Given the description of an element on the screen output the (x, y) to click on. 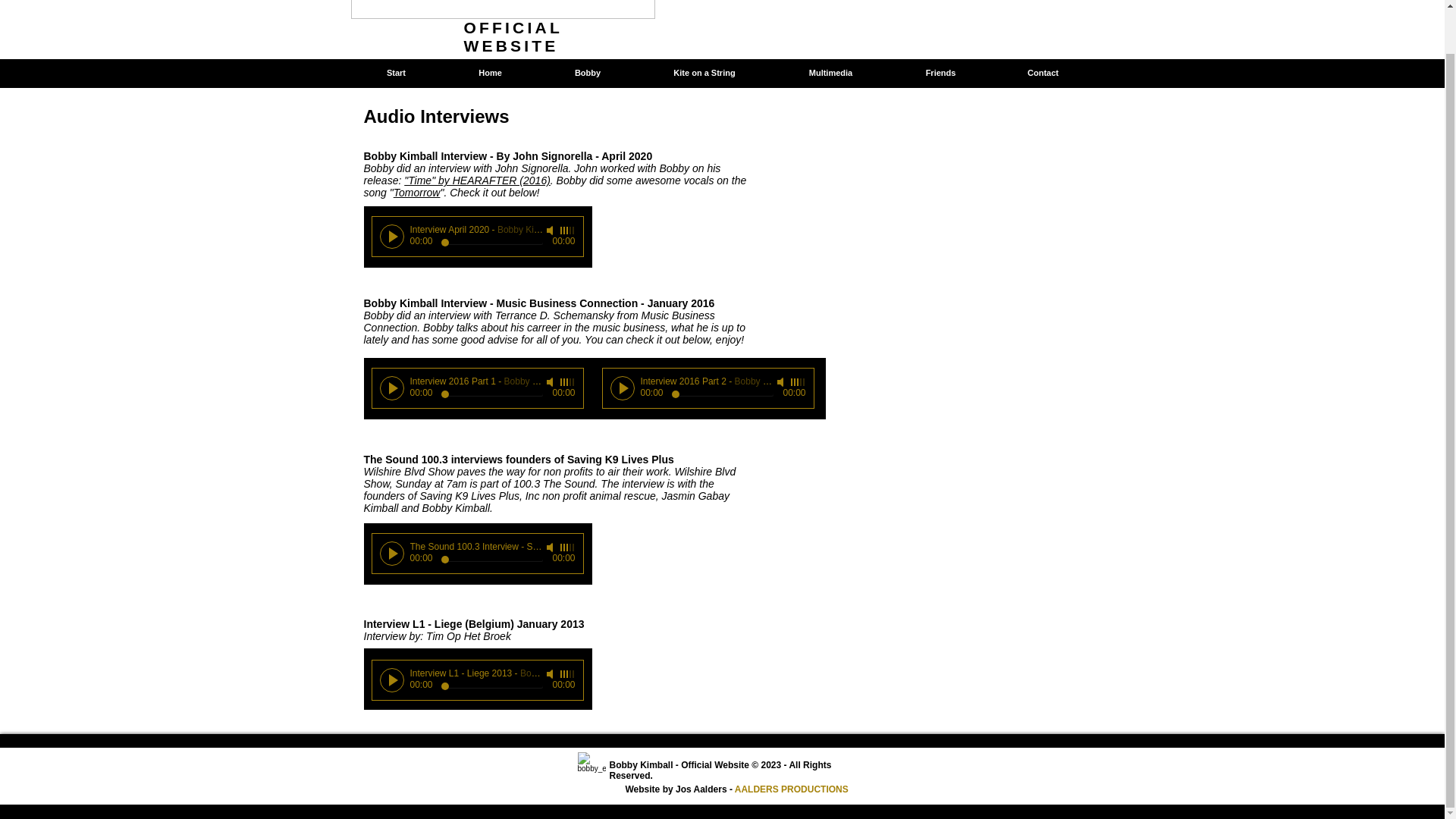
0 (492, 242)
Kite on a String (704, 73)
0 (492, 686)
0 (492, 559)
Start (395, 73)
0 (492, 394)
Bobby (587, 73)
Website by Jos Aalders - AALDERS PRODUCTIONS (735, 788)
Home (489, 73)
Friends (939, 73)
Contact (1042, 73)
0 (722, 394)
Tomorrow (417, 192)
Multimedia (830, 73)
Back to Interviews (1037, 72)
